Given the description of an element on the screen output the (x, y) to click on. 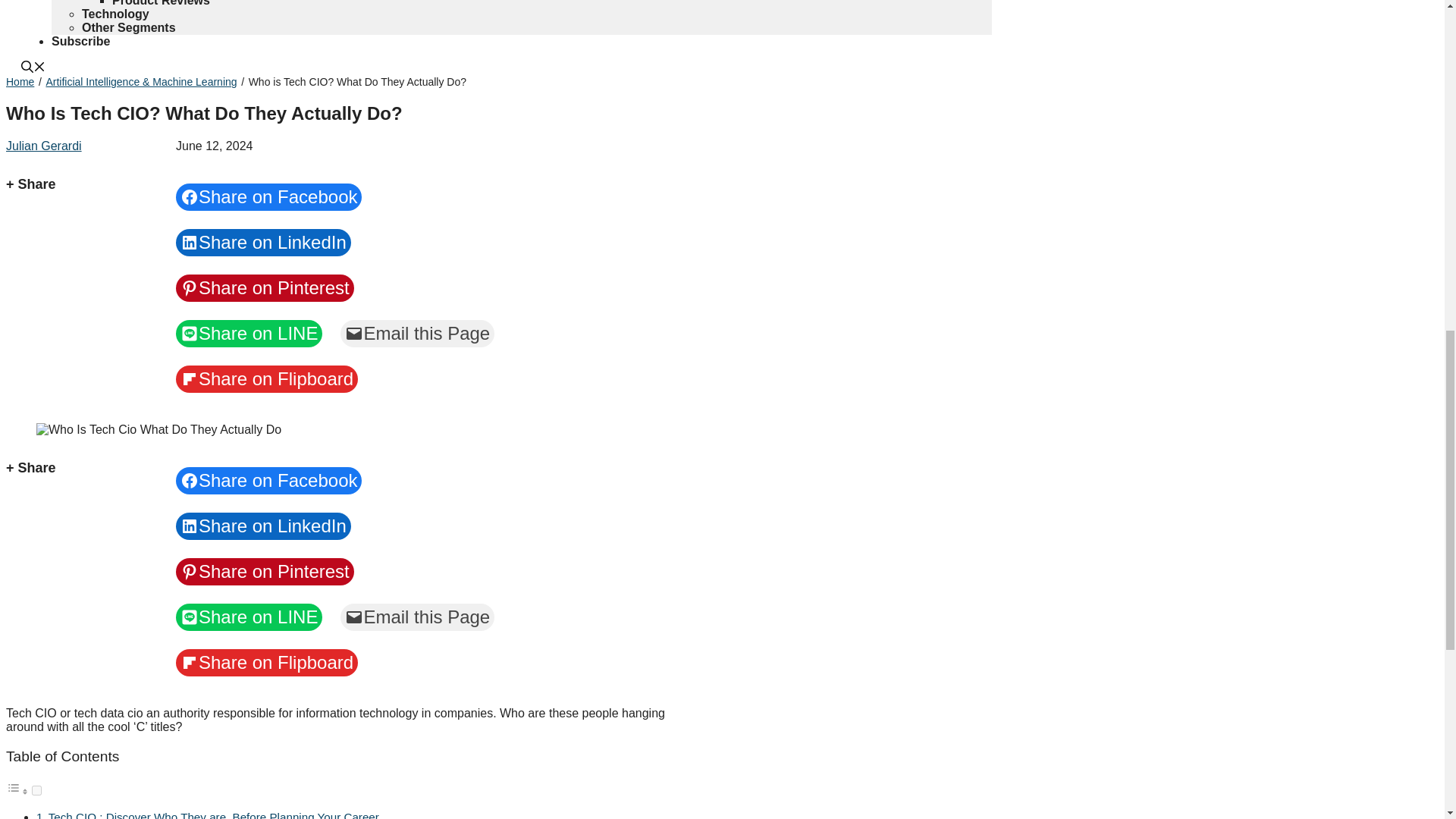
Who Is Tech Cio? What Do They Actually Do? 1 (158, 429)
on (37, 790)
